Given the description of an element on the screen output the (x, y) to click on. 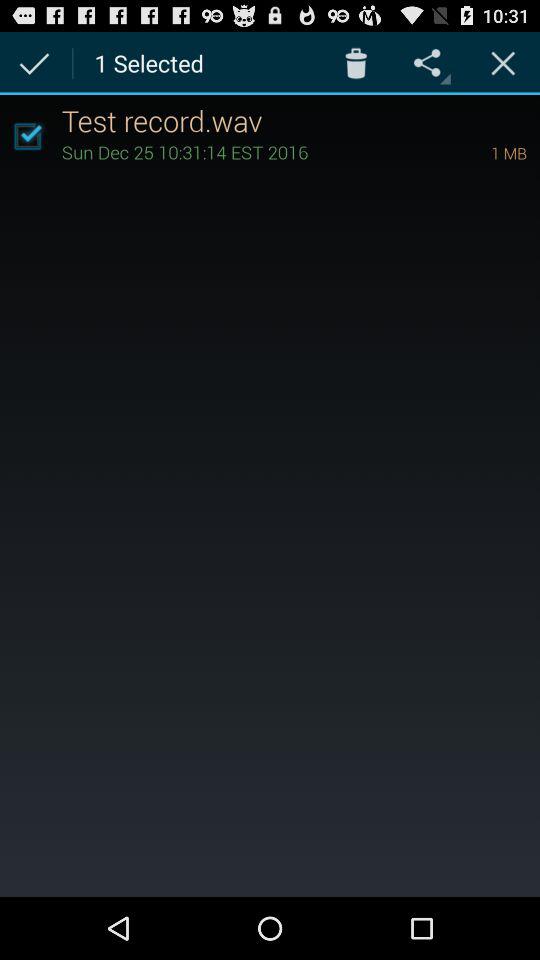
press app above the test record.wav item (356, 62)
